Given the description of an element on the screen output the (x, y) to click on. 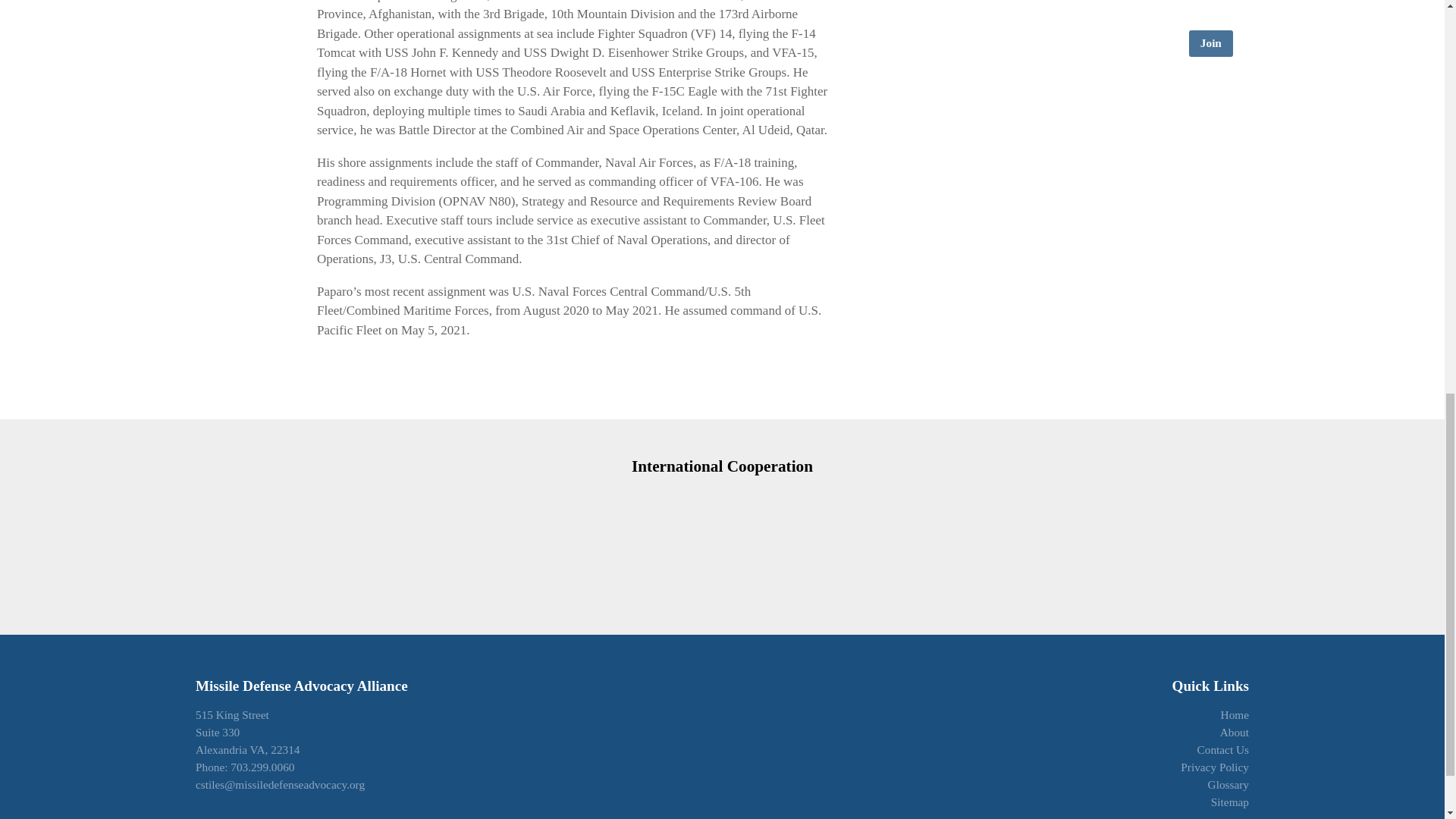
Denmark (489, 536)
Czech Republic (429, 536)
Israel (893, 536)
Canada (365, 536)
India (836, 536)
Australia (243, 536)
Greece (725, 536)
France (608, 536)
Italy (953, 536)
Japan (1013, 536)
Germany (668, 536)
Finland (548, 536)
Hungary (781, 536)
Bahrain (301, 536)
